Given the description of an element on the screen output the (x, y) to click on. 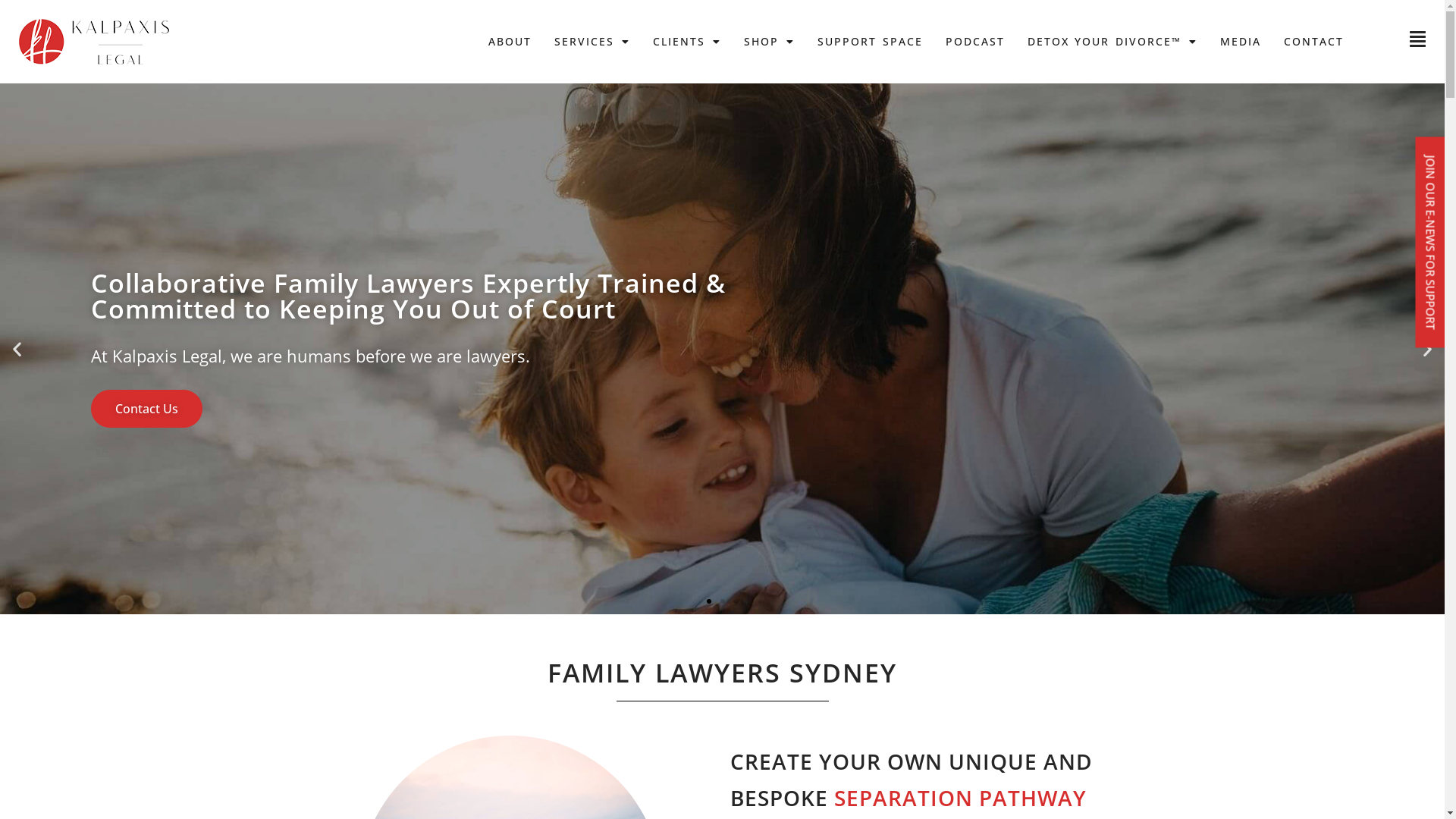
CONTACT Element type: text (1313, 41)
SHOP Element type: text (768, 41)
MEDIA Element type: text (1240, 41)
SUPPORT SPACE Element type: text (869, 41)
CLIENTS Element type: text (686, 41)
PODCAST Element type: text (974, 41)
ABOUT Element type: text (509, 41)
Contact Us Element type: text (146, 408)
SERVICES Element type: text (592, 41)
